Given the description of an element on the screen output the (x, y) to click on. 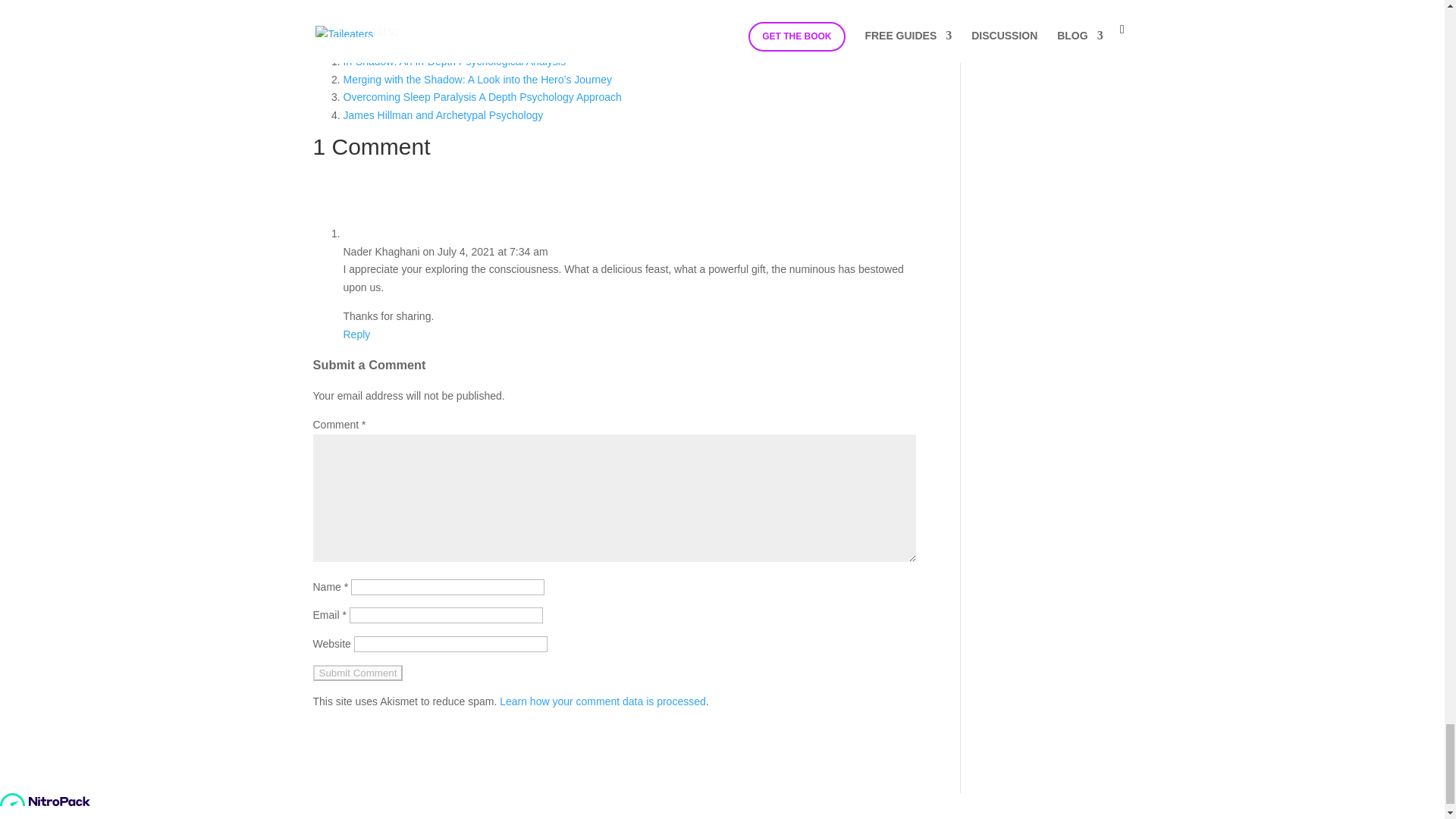
Submit Comment (358, 672)
James Hillman and Archetypal Psychology (442, 114)
Overcoming Sleep Paralysis A Depth Psychology Approach (481, 96)
Overcoming Sleep Paralysis A Depth Psychology Approach (481, 96)
Reply (355, 334)
Submit Comment (358, 672)
In-Shadow: An In-Depth Psychological Analysis (453, 61)
Learn how your comment data is processed (602, 701)
In-Shadow: An In-Depth Psychological Analysis (453, 61)
James Hillman and Archetypal Psychology (442, 114)
